Given the description of an element on the screen output the (x, y) to click on. 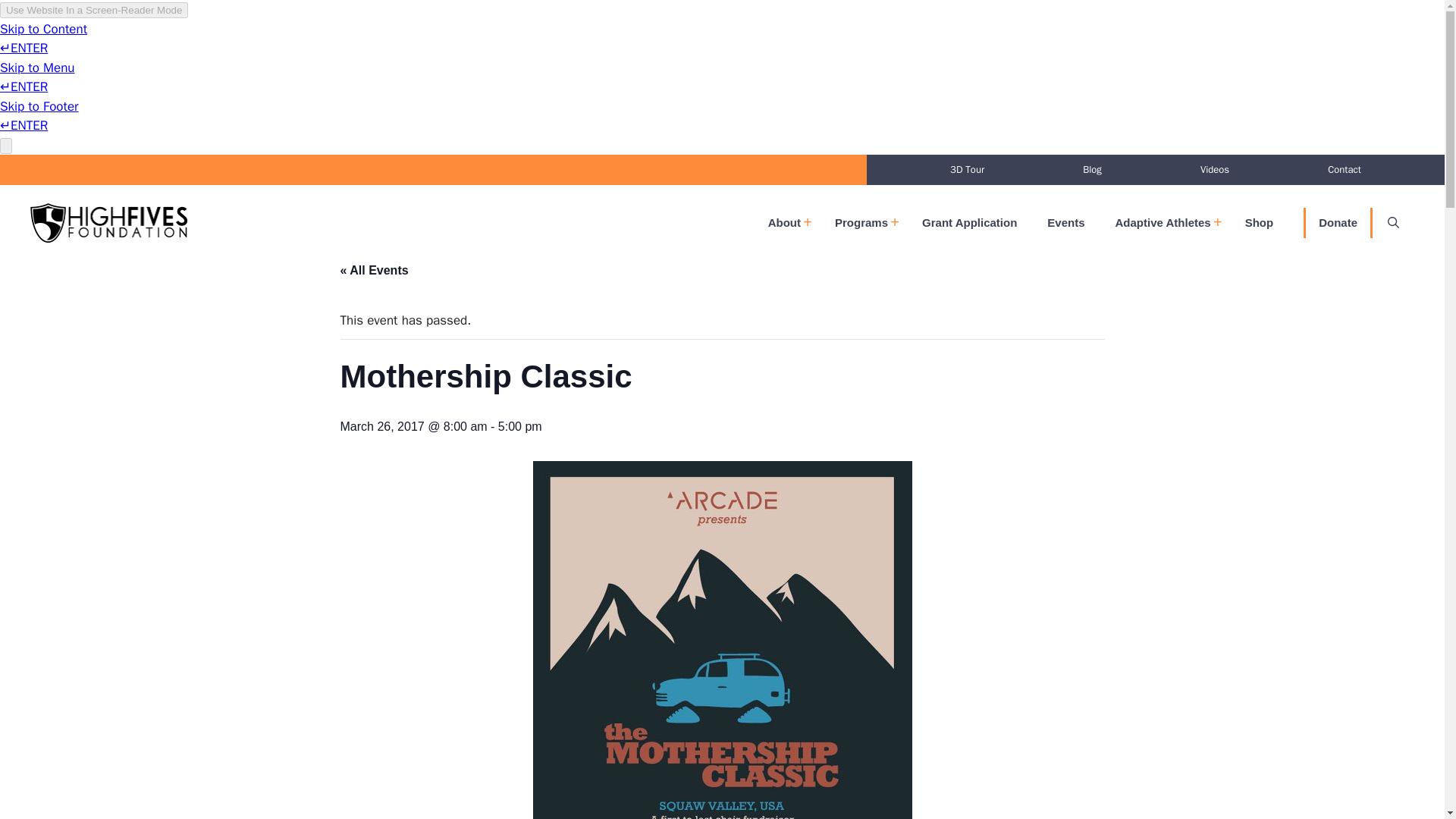
Grant Application (969, 222)
Adaptive Athletes (1165, 222)
Shop (1259, 222)
Videos (1214, 169)
Programs (863, 222)
About (785, 222)
Blog (1091, 169)
Donate (1338, 222)
Events (1065, 222)
3D Tour (966, 169)
Contact (1344, 169)
